Given the description of an element on the screen output the (x, y) to click on. 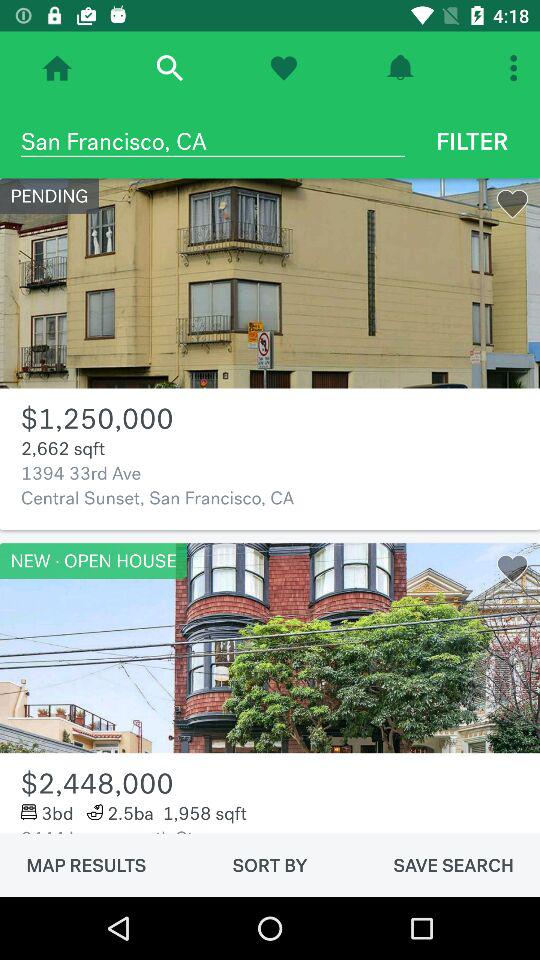
choose save search item (453, 865)
